Given the description of an element on the screen output the (x, y) to click on. 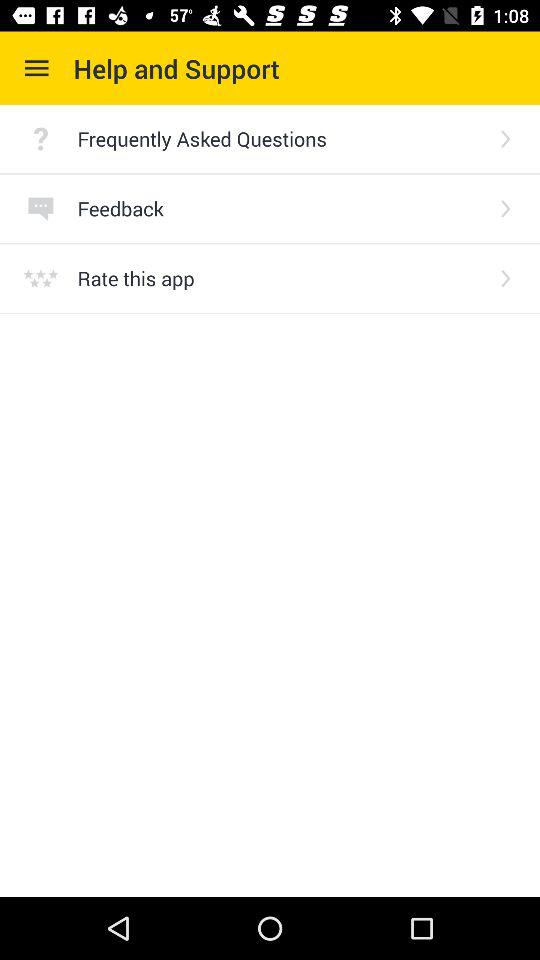
select the rate this app item (280, 278)
